Given the description of an element on the screen output the (x, y) to click on. 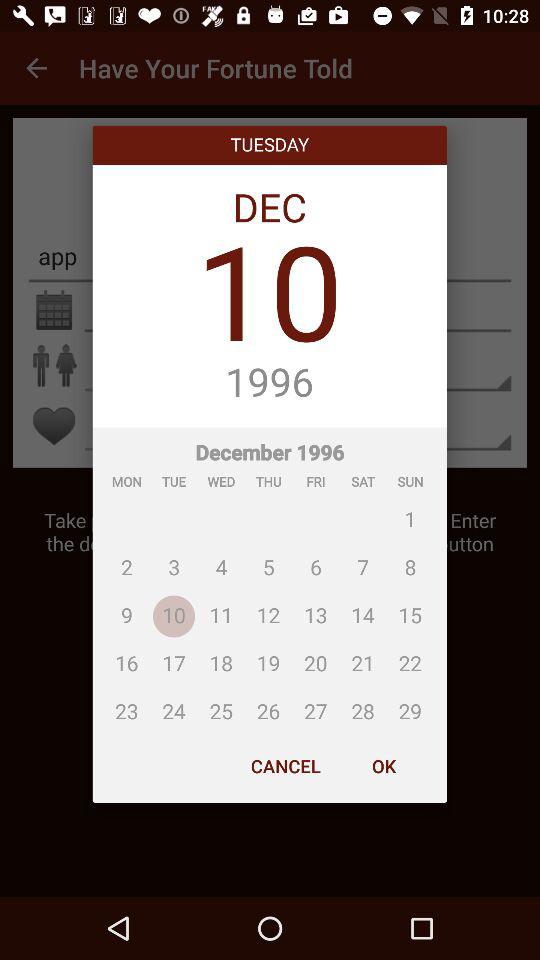
turn on ok at the bottom right corner (383, 765)
